Given the description of an element on the screen output the (x, y) to click on. 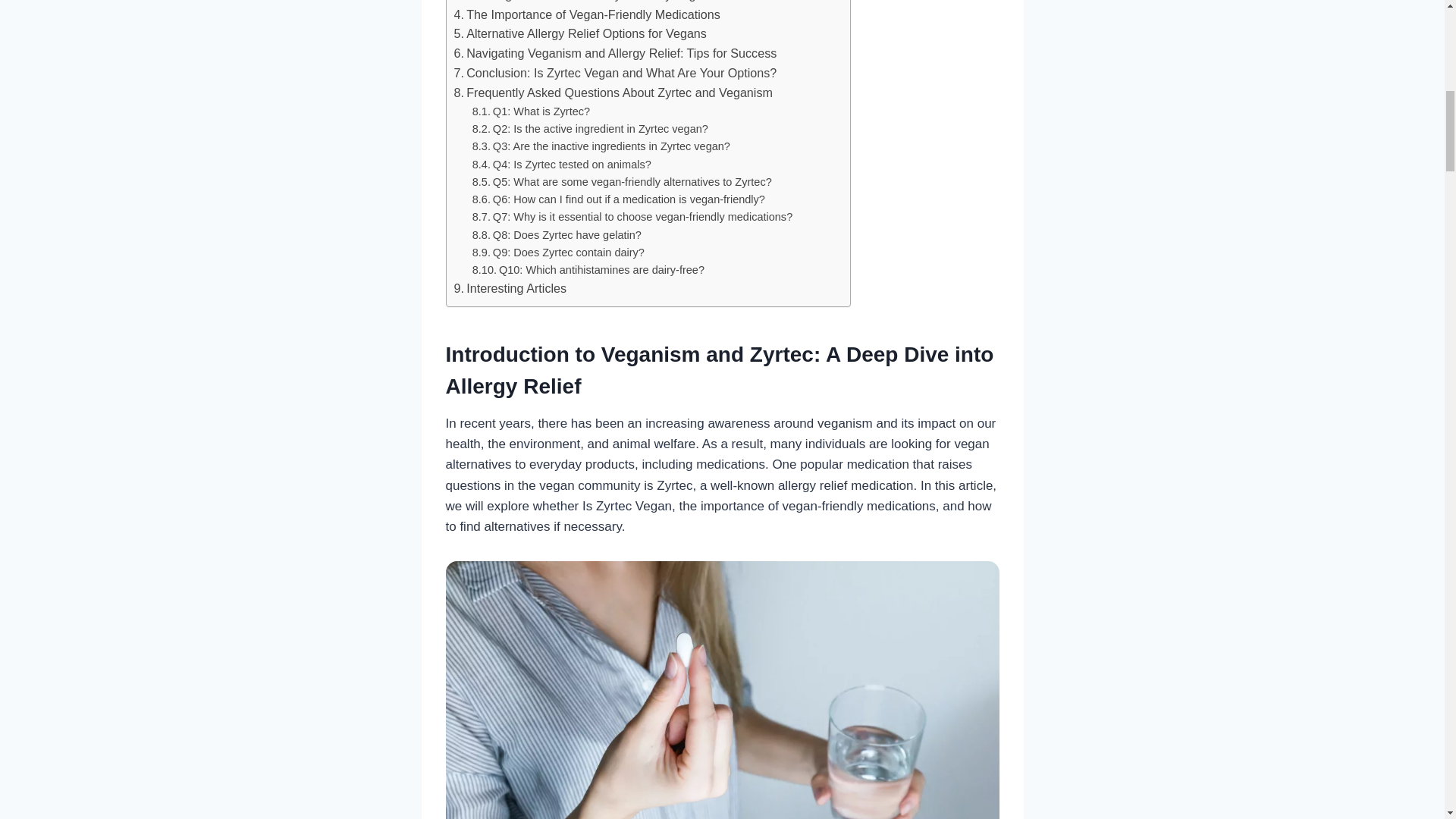
The Importance of Vegan-Friendly Medications (585, 14)
The Veganism Debate: Is Zyrtec Truly Vegan? (584, 2)
Alternative Allergy Relief Options for Vegans (579, 34)
